Given the description of an element on the screen output the (x, y) to click on. 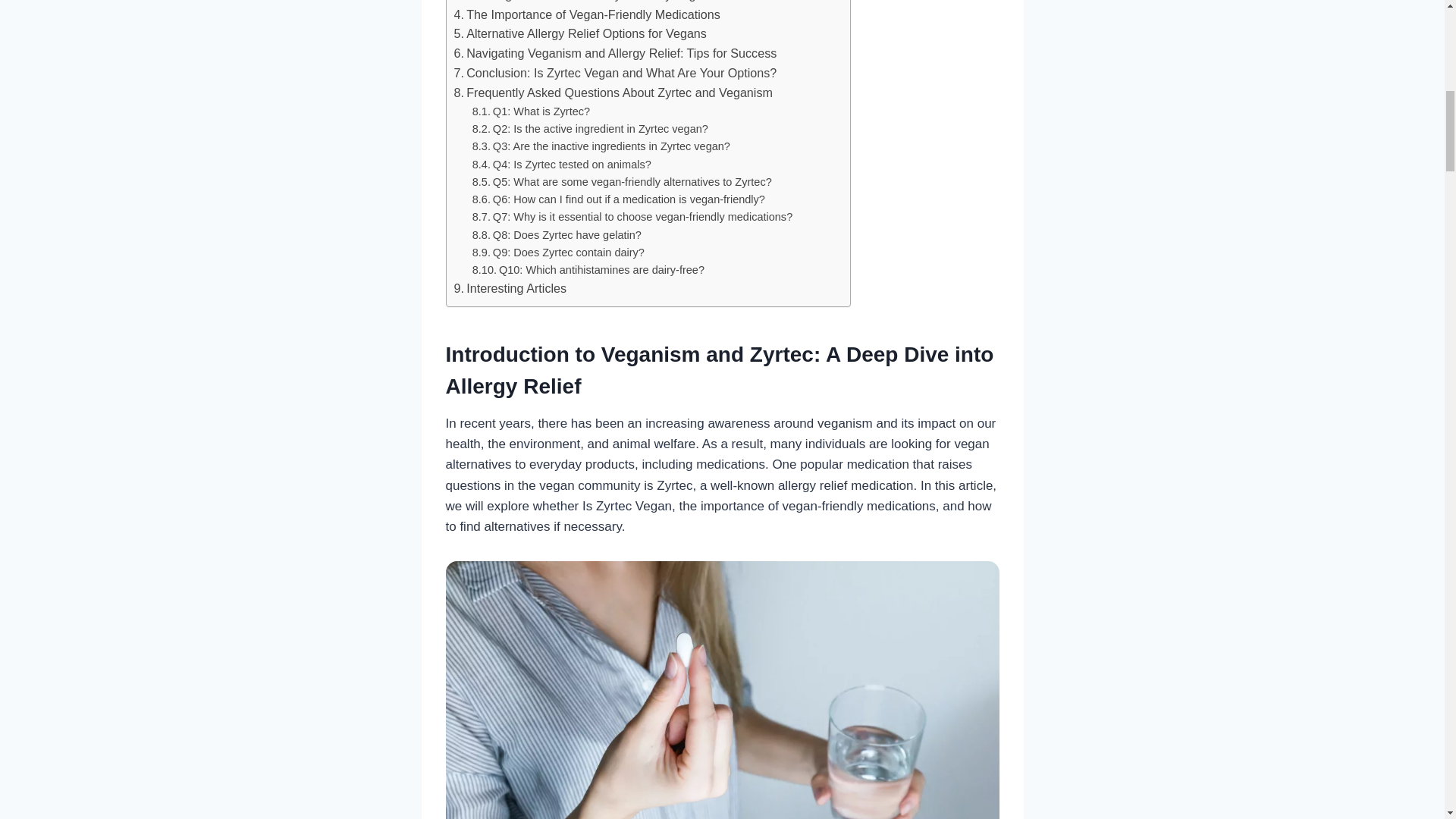
The Importance of Vegan-Friendly Medications (585, 14)
The Veganism Debate: Is Zyrtec Truly Vegan? (584, 2)
Alternative Allergy Relief Options for Vegans (579, 34)
